Given the description of an element on the screen output the (x, y) to click on. 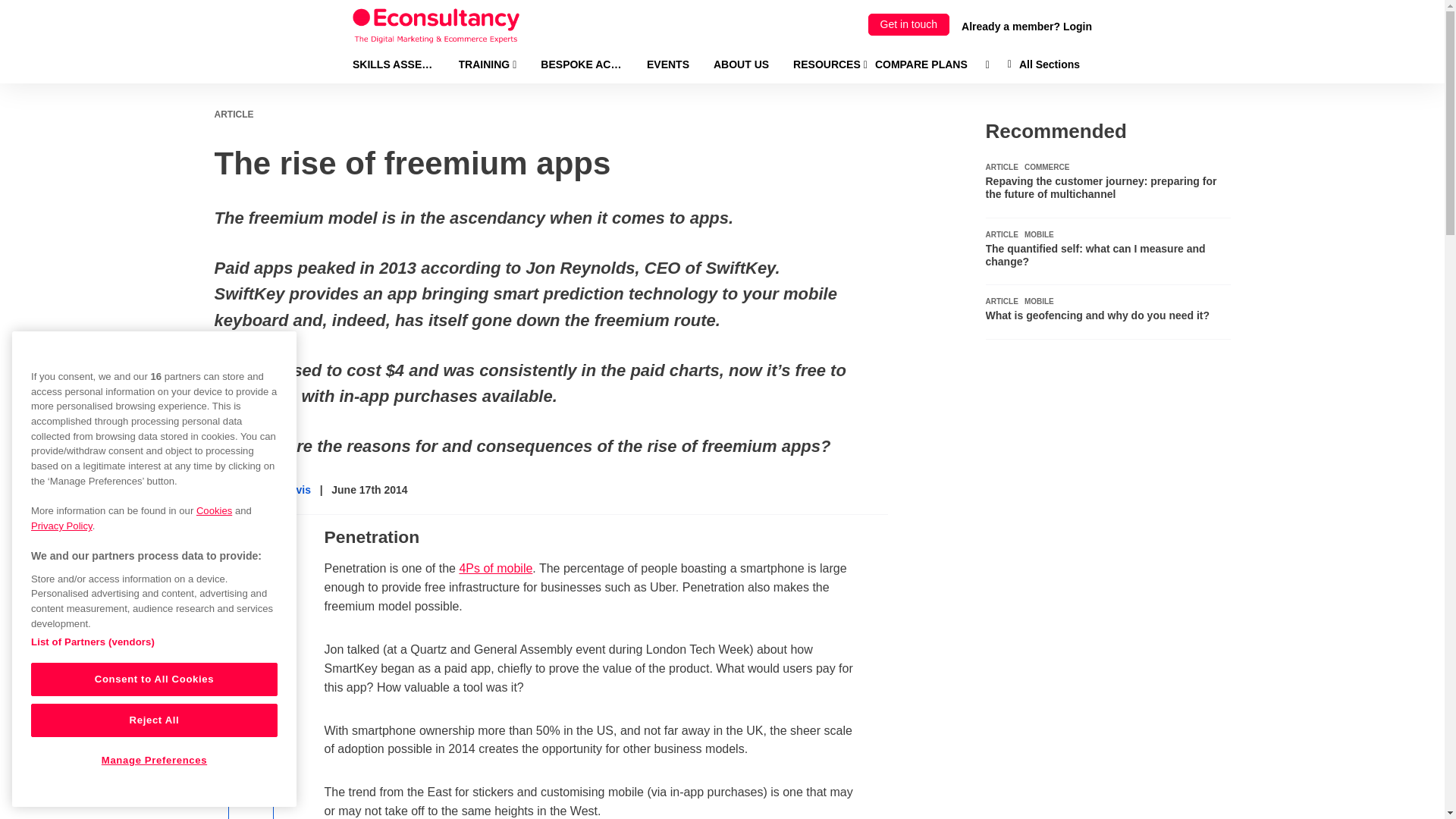
RESOURCES (830, 64)
SKILLS ASSESSMENT (392, 64)
COMPARE PLANS (921, 64)
Already a member? Login (1026, 26)
All Sections (1043, 64)
TRAINING (487, 64)
ABOUT US (740, 64)
Posts by Ben Davis (285, 490)
Get in touch (908, 24)
EVENTS (667, 64)
BESPOKE ACADEMIES (581, 64)
